Given the description of an element on the screen output the (x, y) to click on. 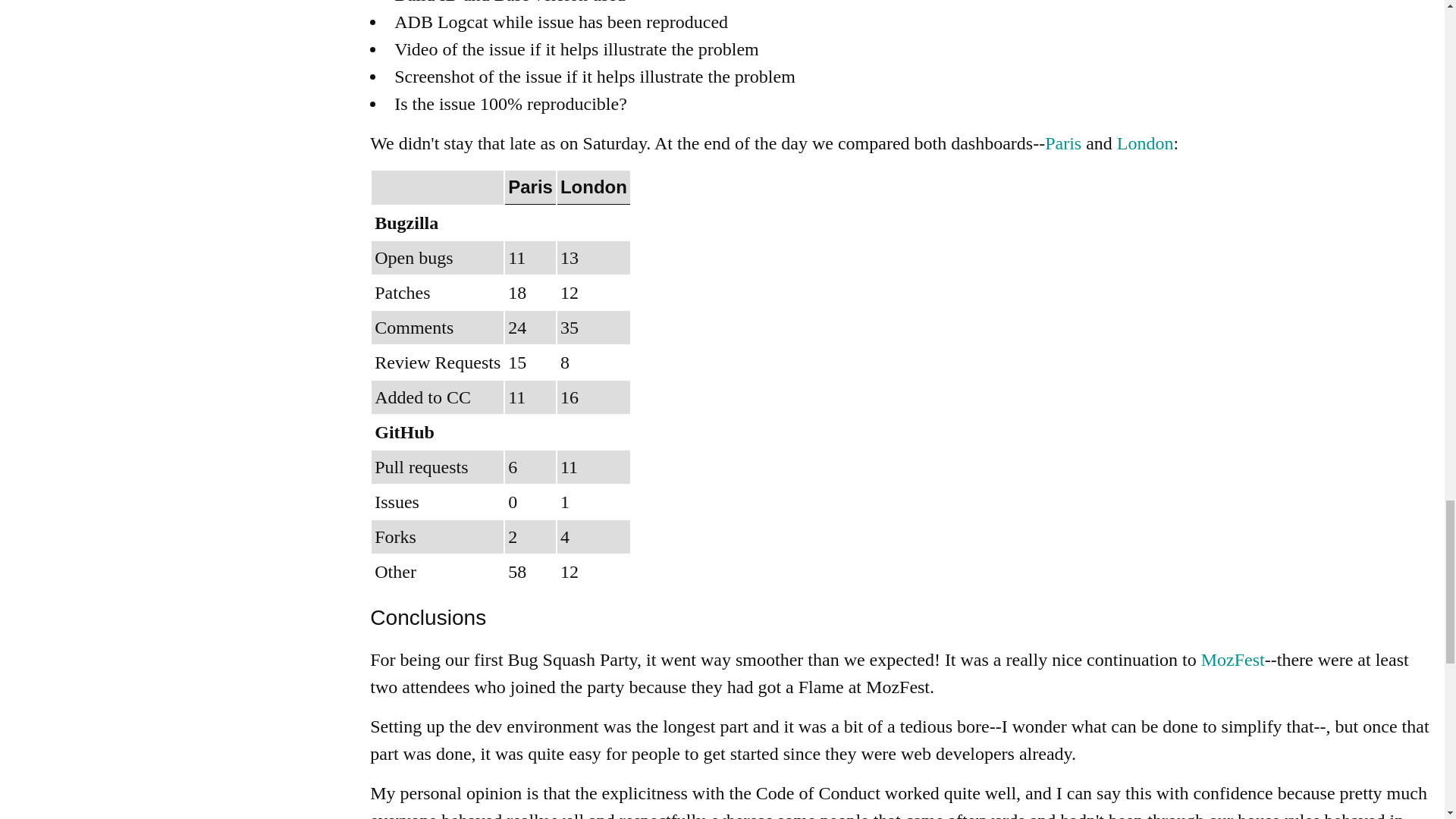
London (1144, 143)
Paris (1063, 143)
MozFest (1233, 659)
